Given the description of an element on the screen output the (x, y) to click on. 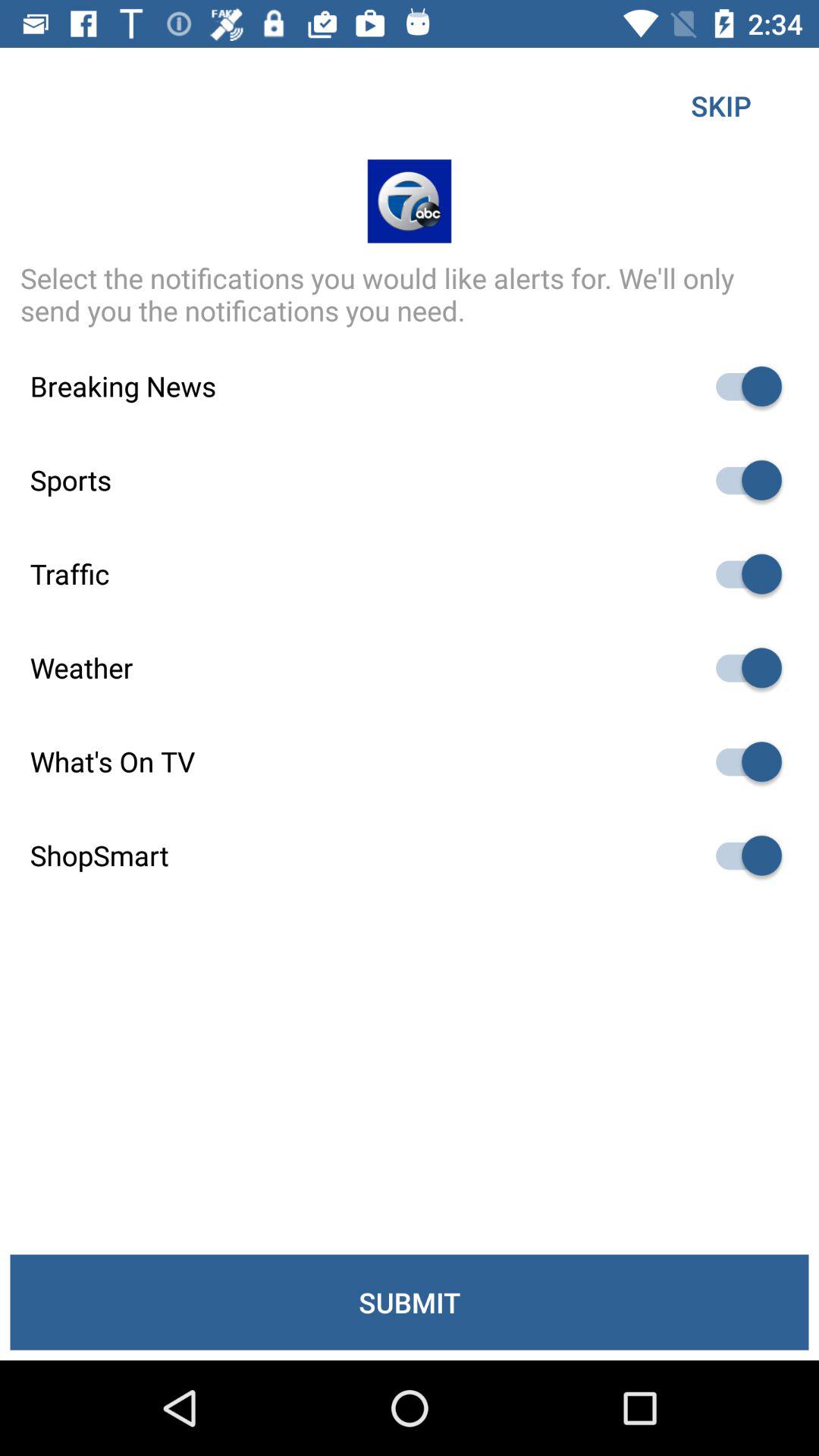
on/off option (741, 386)
